Given the description of an element on the screen output the (x, y) to click on. 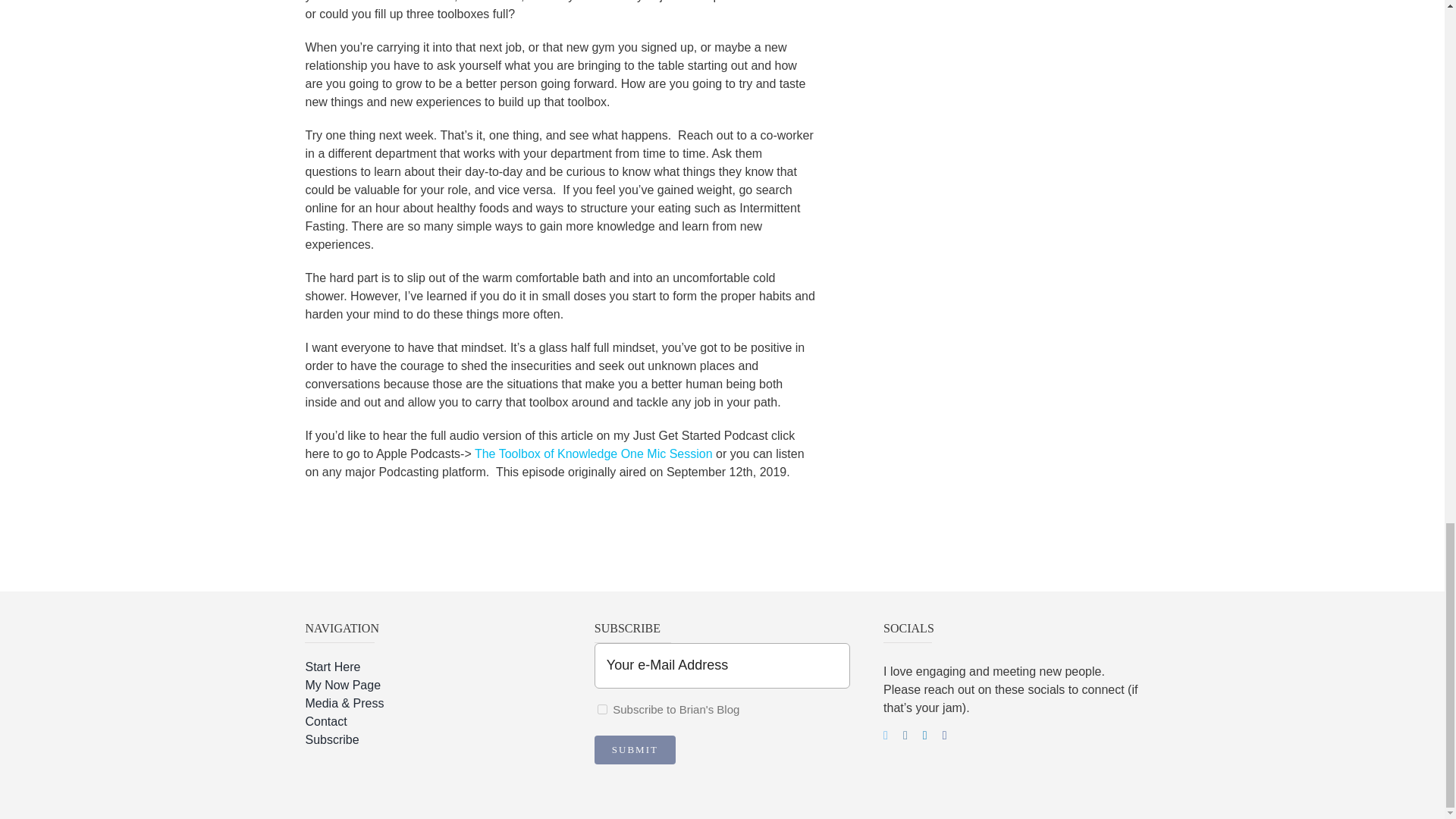
Submit (634, 749)
Subscribe to Brian's Blog (601, 709)
